Given the description of an element on the screen output the (x, y) to click on. 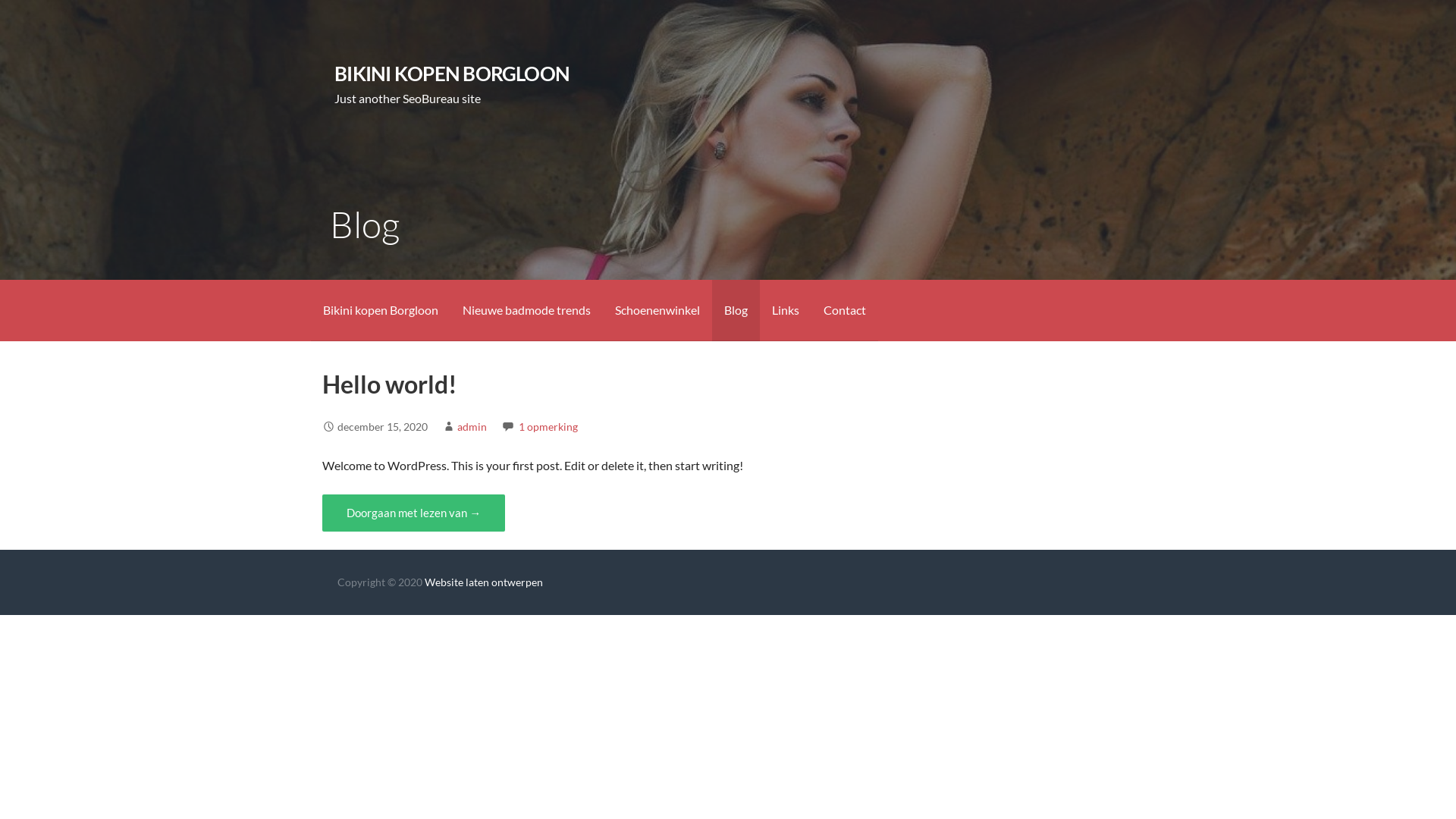
Schoenenwinkel Element type: text (657, 310)
Blog Element type: text (735, 310)
Website laten ontwerpen Element type: text (483, 581)
Contact Element type: text (844, 310)
Nieuwe badmode trends Element type: text (526, 310)
1 opmerking Element type: text (547, 426)
admin Element type: text (471, 426)
Links Element type: text (785, 310)
BIKINI KOPEN BORGLOON Element type: text (451, 73)
Naar inhoud gaan Element type: text (0, 0)
Hello world! Element type: text (389, 383)
Bikini kopen Borgloon Element type: text (380, 310)
